Given the description of an element on the screen output the (x, y) to click on. 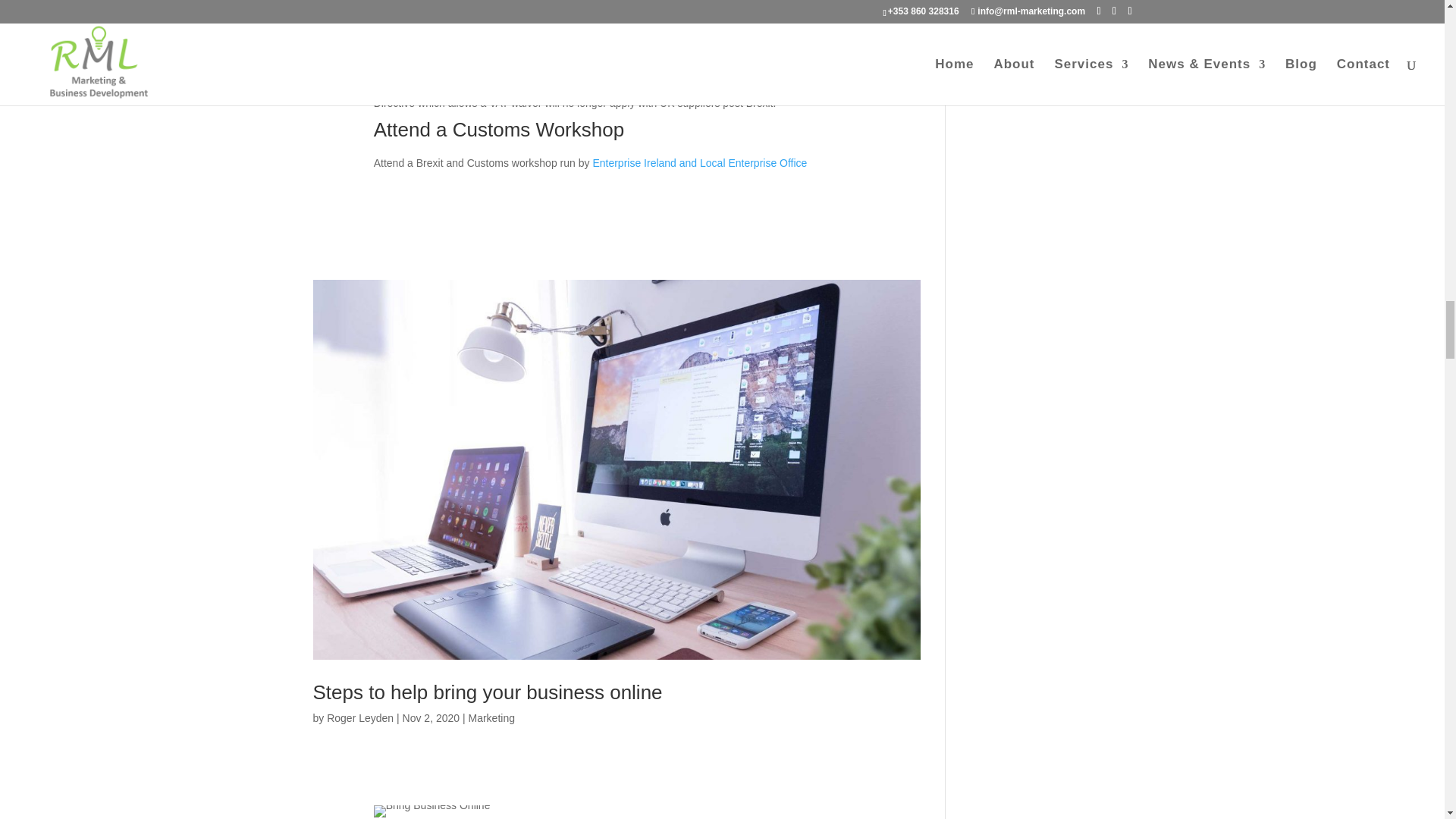
Bring Business Online (432, 812)
Posts by Roger Leyden (359, 717)
